Given the description of an element on the screen output the (x, y) to click on. 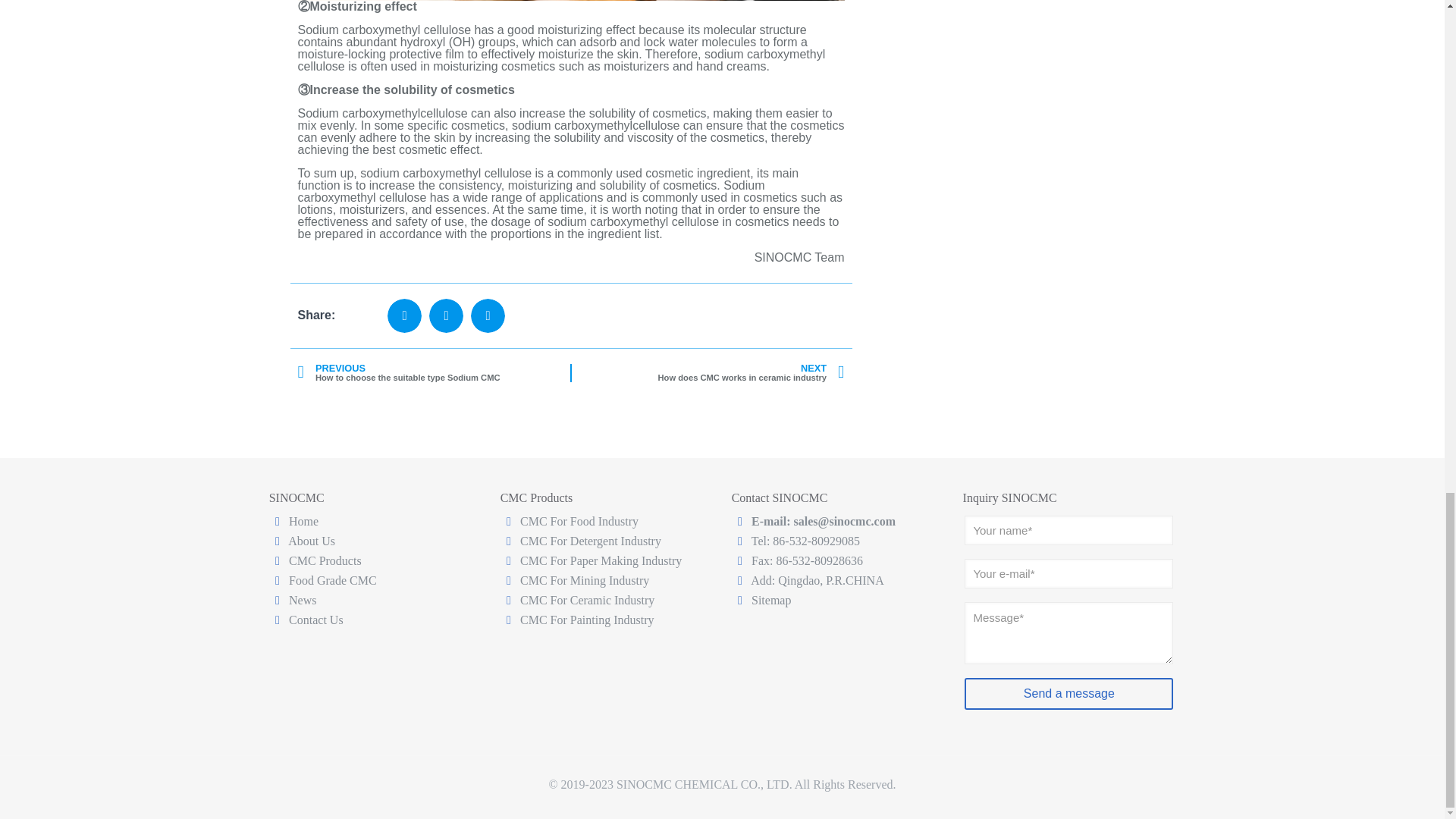
Send a message (751, 372)
